Given the description of an element on the screen output the (x, y) to click on. 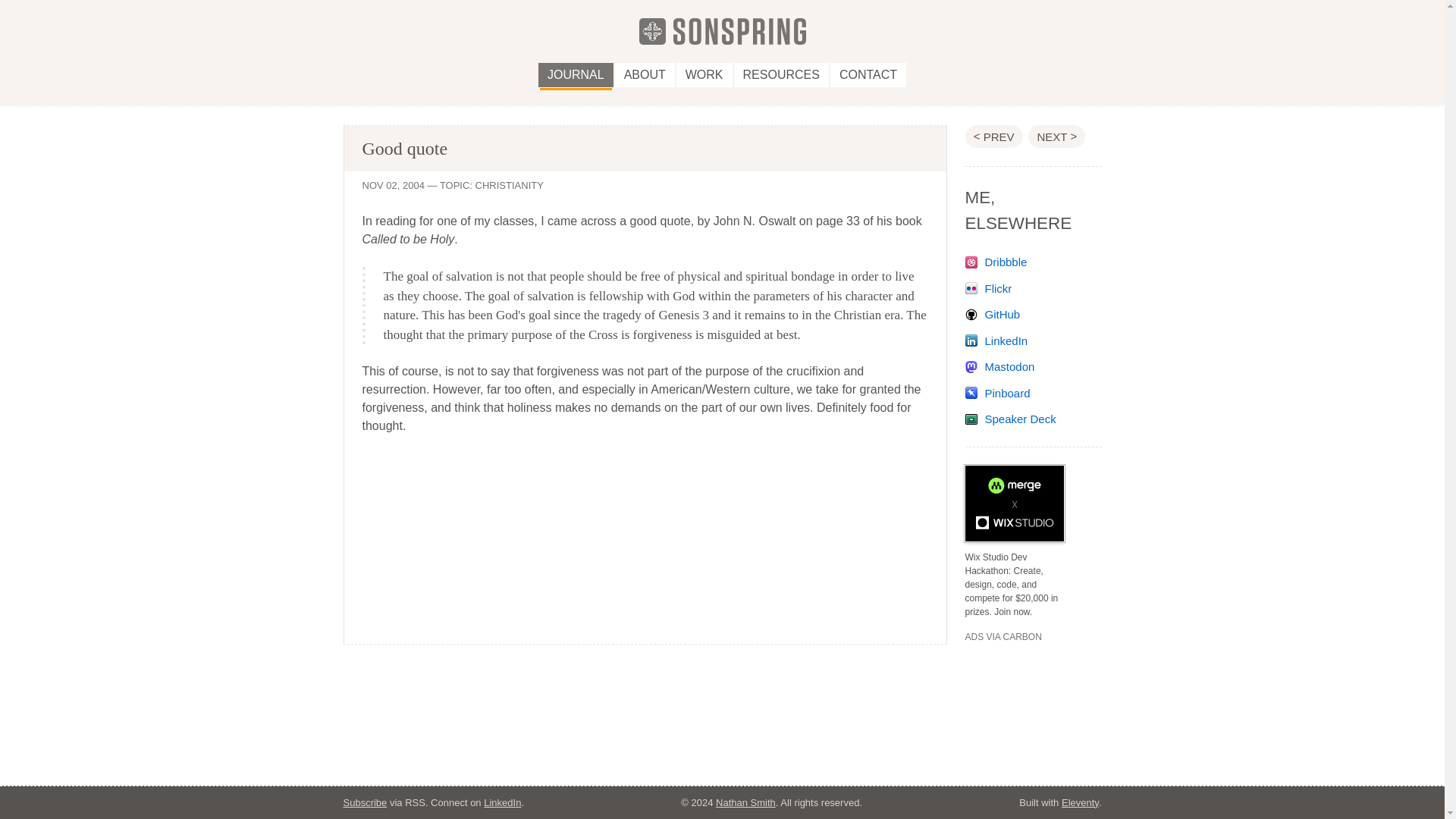
Random encounter (1055, 136)
LinkedIn (995, 340)
Speaker Deck (1009, 418)
ADS VIA CARBON (1002, 636)
CONTACT (867, 74)
LinkedIn (502, 801)
Eleventy (1080, 801)
Pinboard (996, 392)
RESOURCES (780, 74)
WORK (704, 74)
JOURNAL (575, 74)
Mastodon (998, 366)
Dribbble (994, 261)
Nathan Smith (746, 801)
CHRISTIANITY (509, 184)
